Given the description of an element on the screen output the (x, y) to click on. 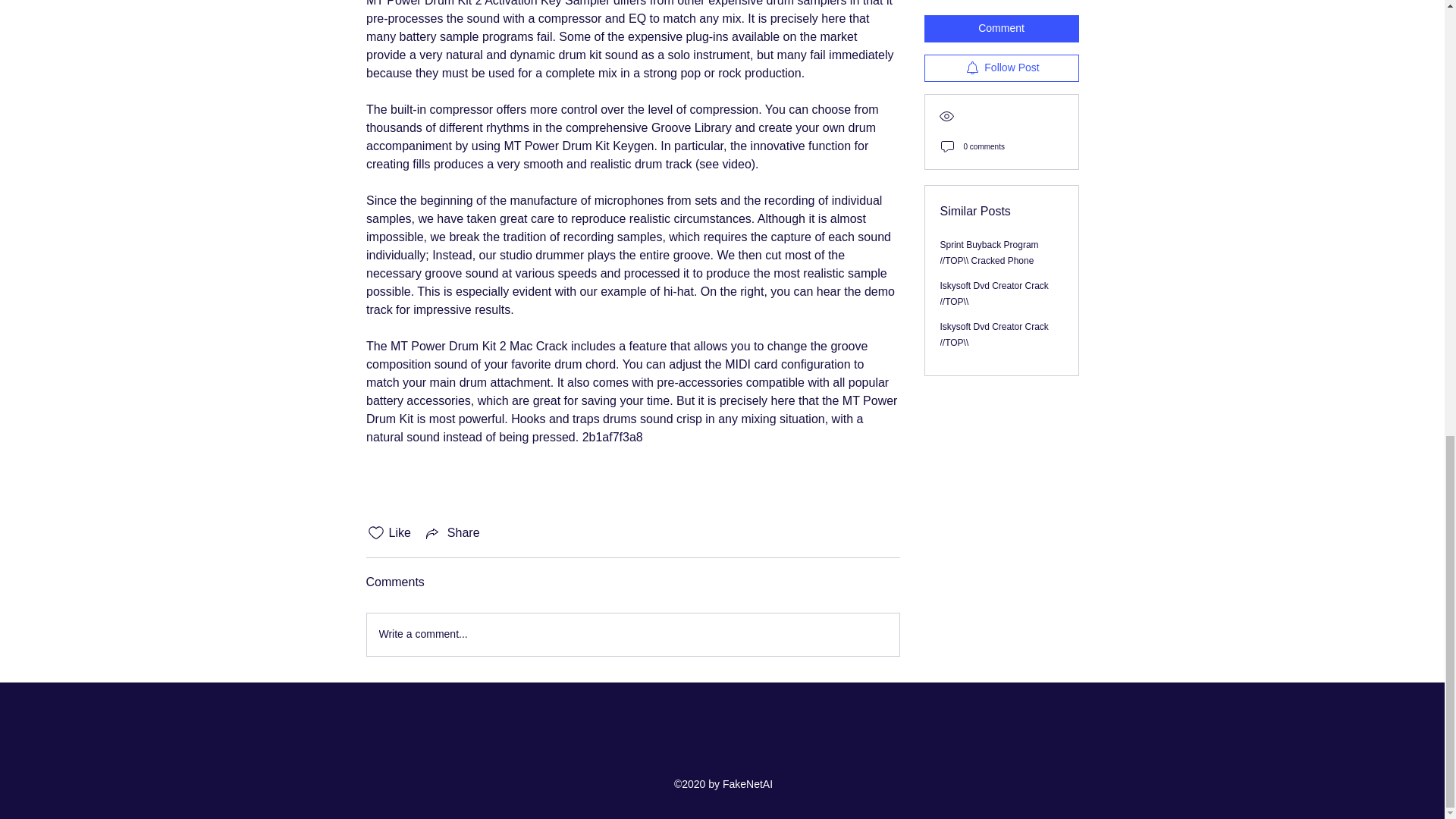
Write a comment... (632, 634)
Share (451, 533)
